Given the description of an element on the screen output the (x, y) to click on. 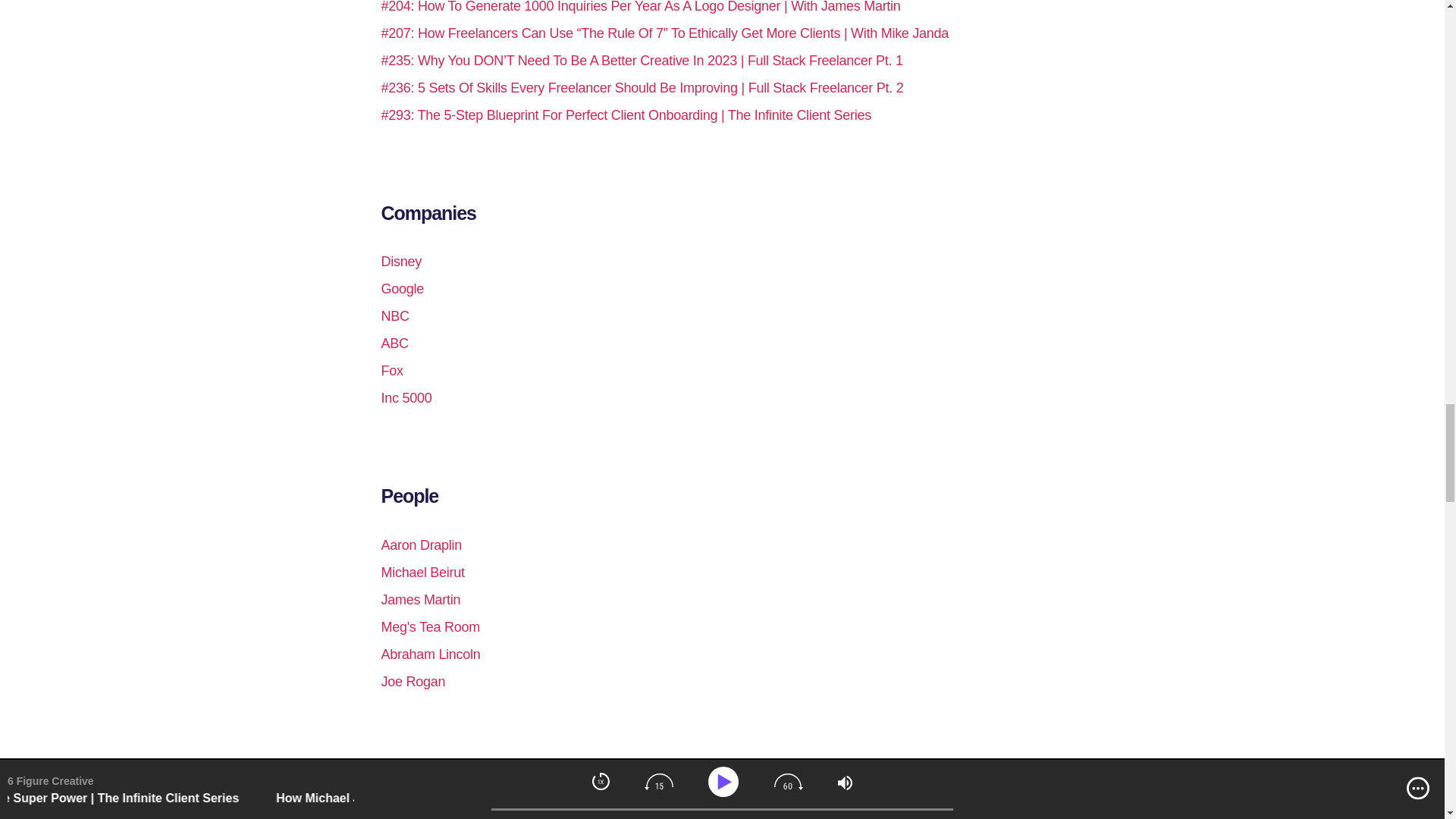
Disney (400, 261)
James Martin (420, 599)
Michael Beirut (422, 572)
NBC (394, 315)
ABC (393, 343)
Fox (391, 370)
Inc 5000 (405, 397)
Google (401, 288)
Aaron Draplin (420, 544)
